Given the description of an element on the screen output the (x, y) to click on. 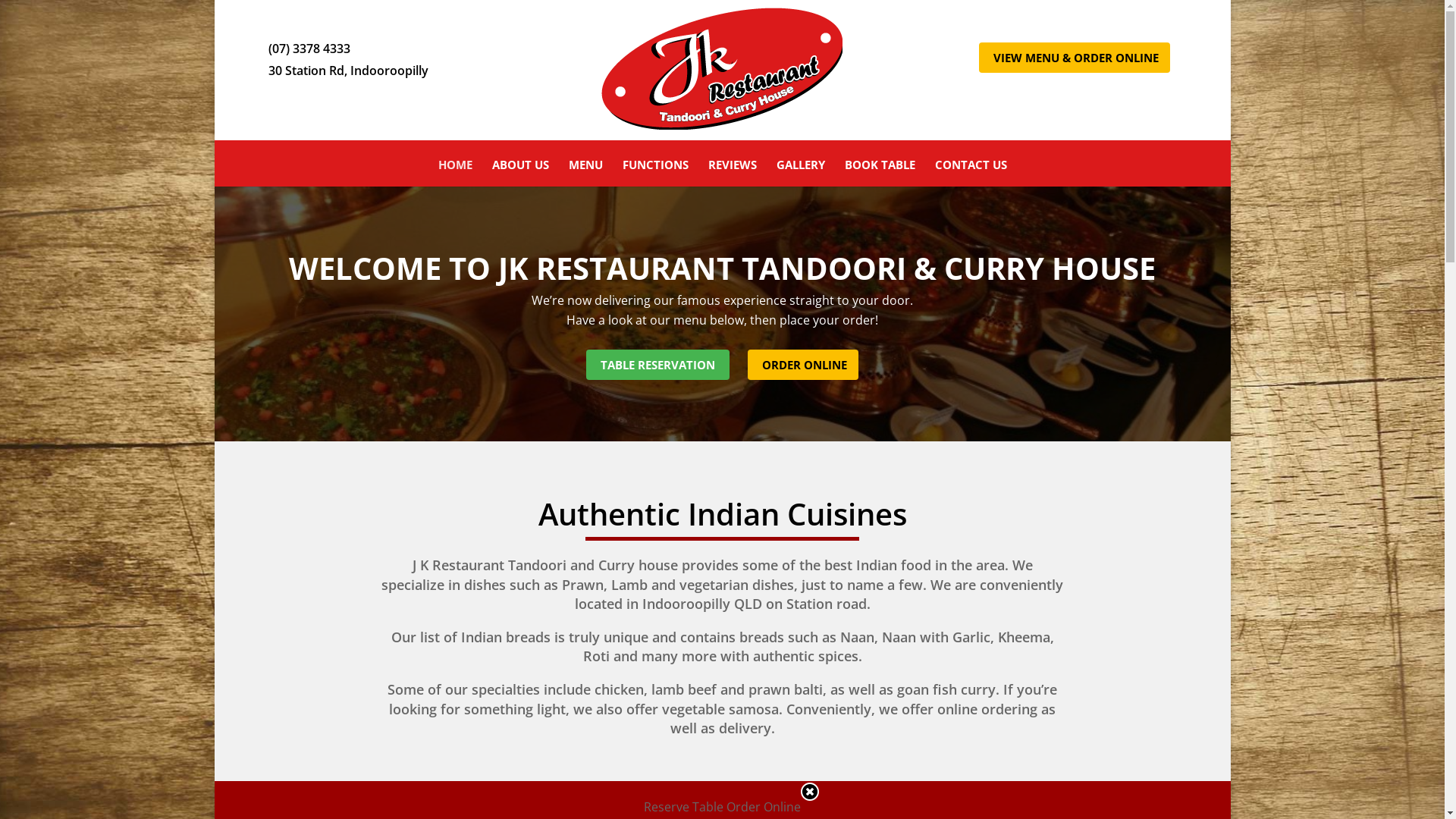
BOOK TABLE Element type: text (879, 172)
ABOUT US Element type: text (519, 172)
MENU Element type: text (585, 172)
(07) 3378 4333 Element type: text (307, 48)
REVIEWS Element type: text (732, 172)
CONTACT US Element type: text (970, 172)
GALLERY Element type: text (800, 172)
HOME Element type: text (455, 172)
FUNCTIONS Element type: text (654, 172)
